Given the description of an element on the screen output the (x, y) to click on. 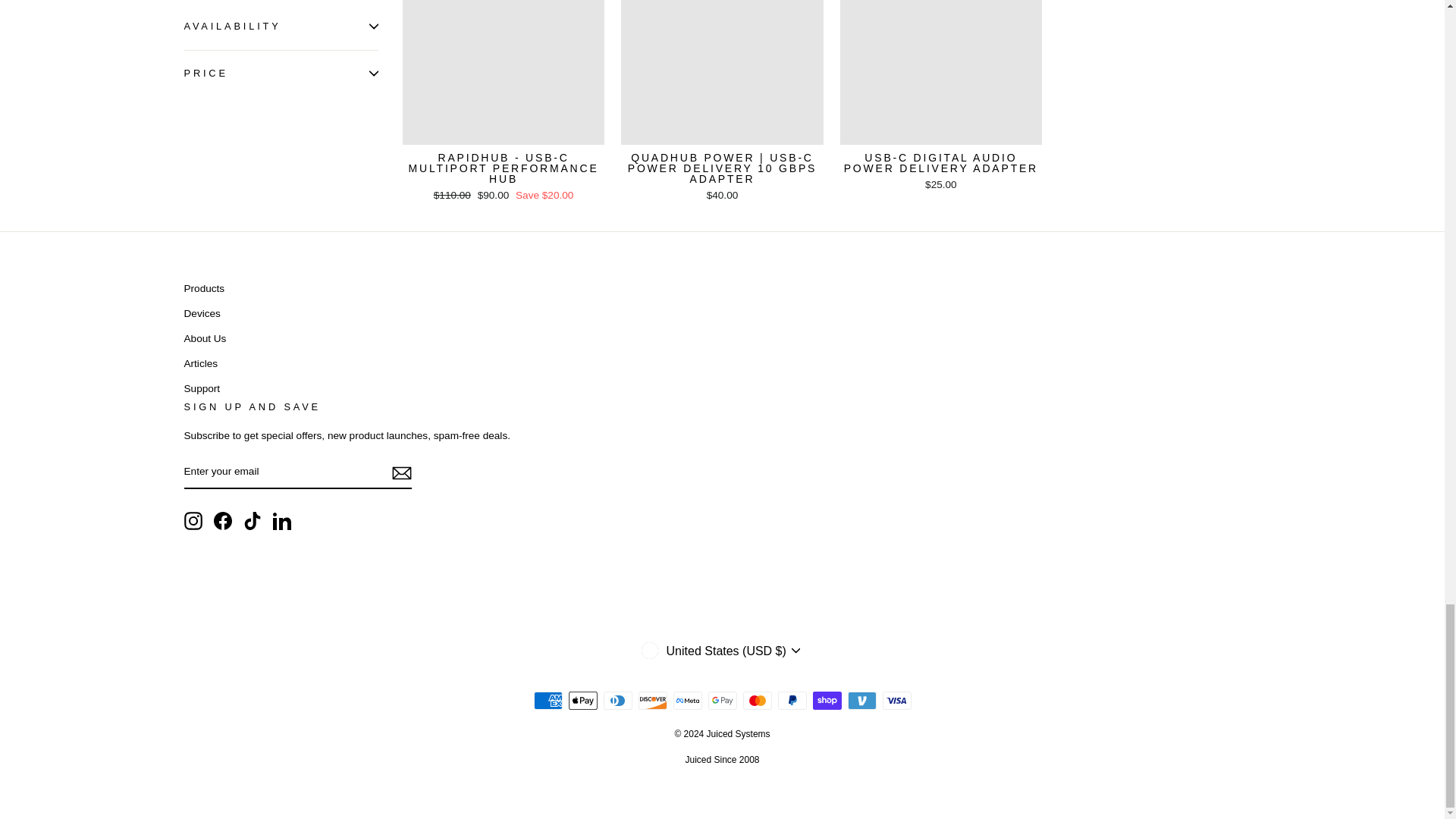
Juiced Systems on LinkedIn (282, 520)
Apple Pay (582, 700)
Juiced Systems on TikTok (251, 520)
icon-email (400, 473)
instagram (192, 520)
Juiced Systems on Facebook (222, 520)
Juiced Systems on Instagram (192, 520)
Diners Club (617, 700)
American Express (548, 700)
